Given the description of an element on the screen output the (x, y) to click on. 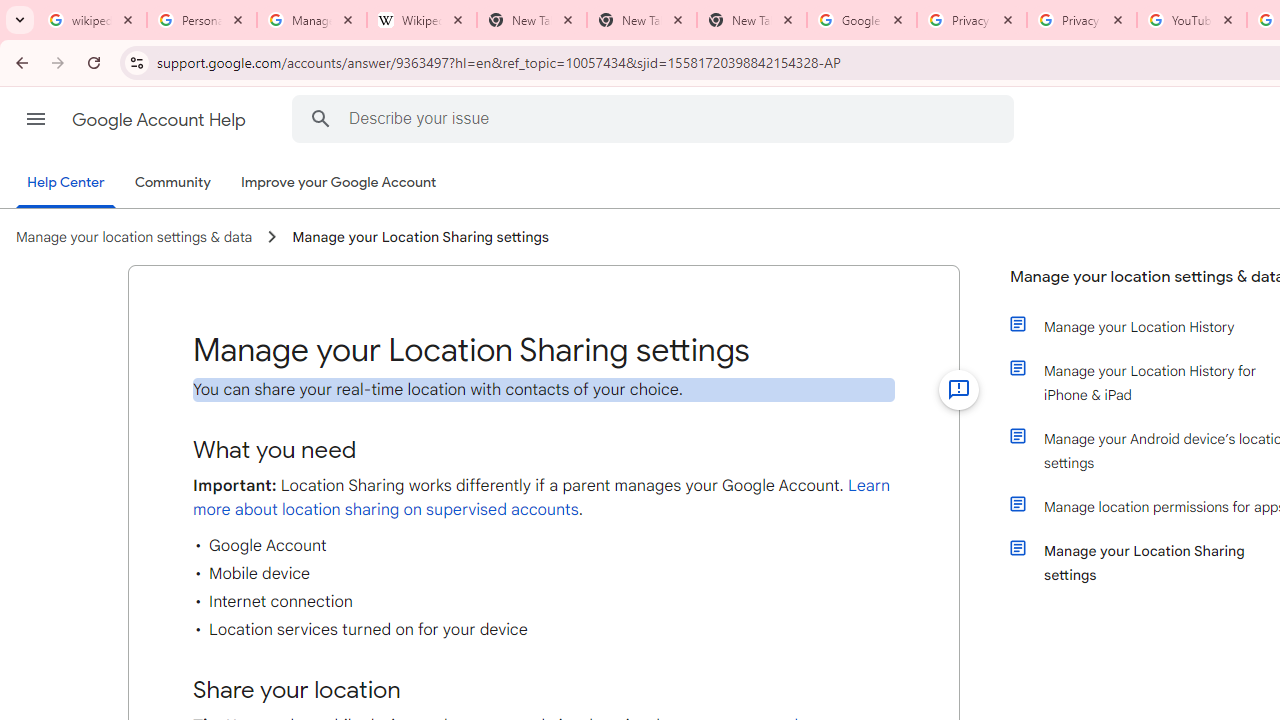
Google Account Help (160, 119)
Community (171, 183)
New Tab (642, 20)
Help Center (65, 183)
New Tab (752, 20)
Improve your Google Account (339, 183)
